Given the description of an element on the screen output the (x, y) to click on. 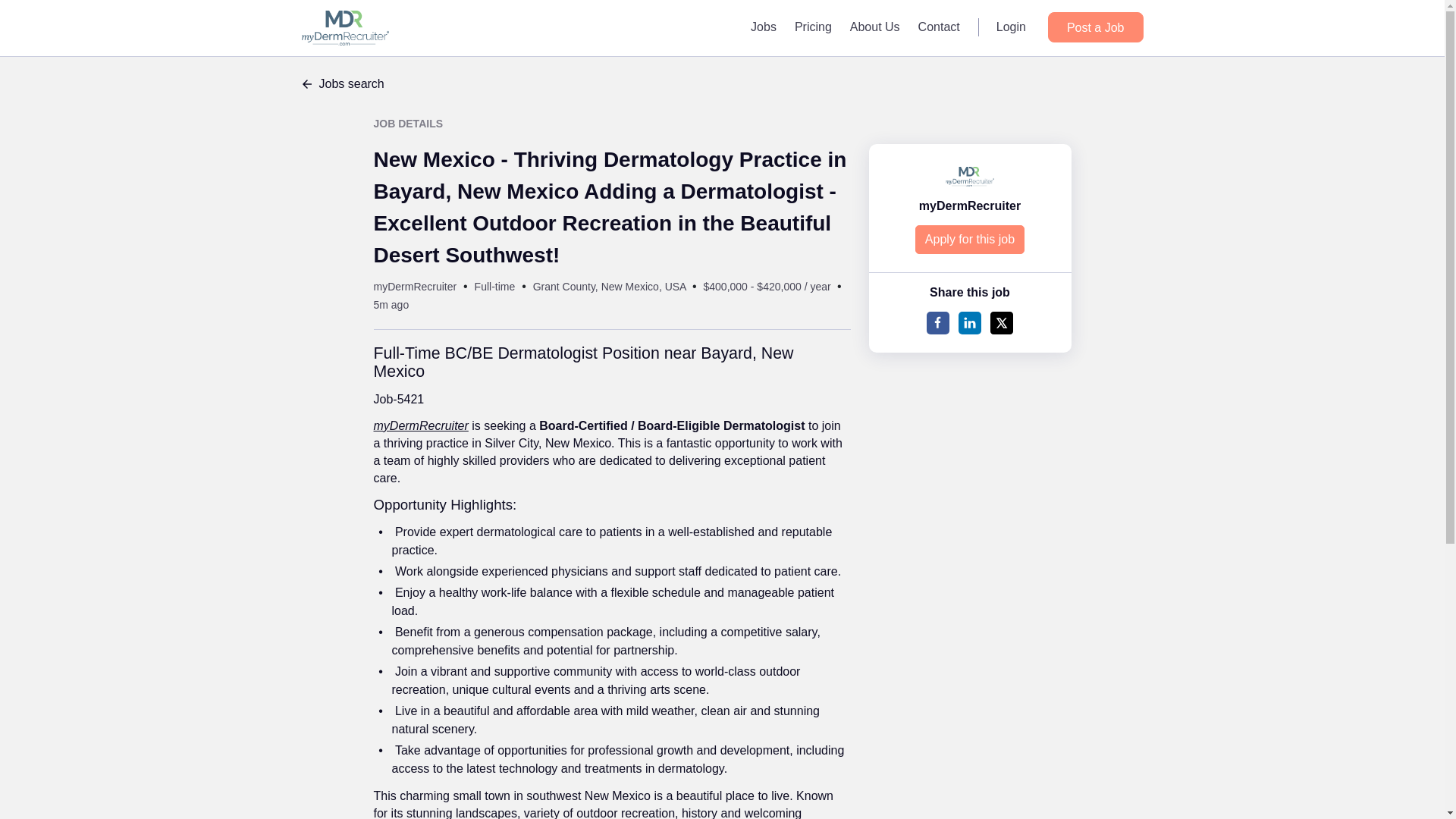
Jobs search (721, 84)
Jobs (763, 26)
Pricing (813, 26)
Share to FB (937, 323)
About Us (874, 26)
Contact (938, 26)
Share to Twitter (1001, 323)
Login (1011, 26)
myDermRecruiter (969, 205)
Apply for this job (970, 239)
